Given the description of an element on the screen output the (x, y) to click on. 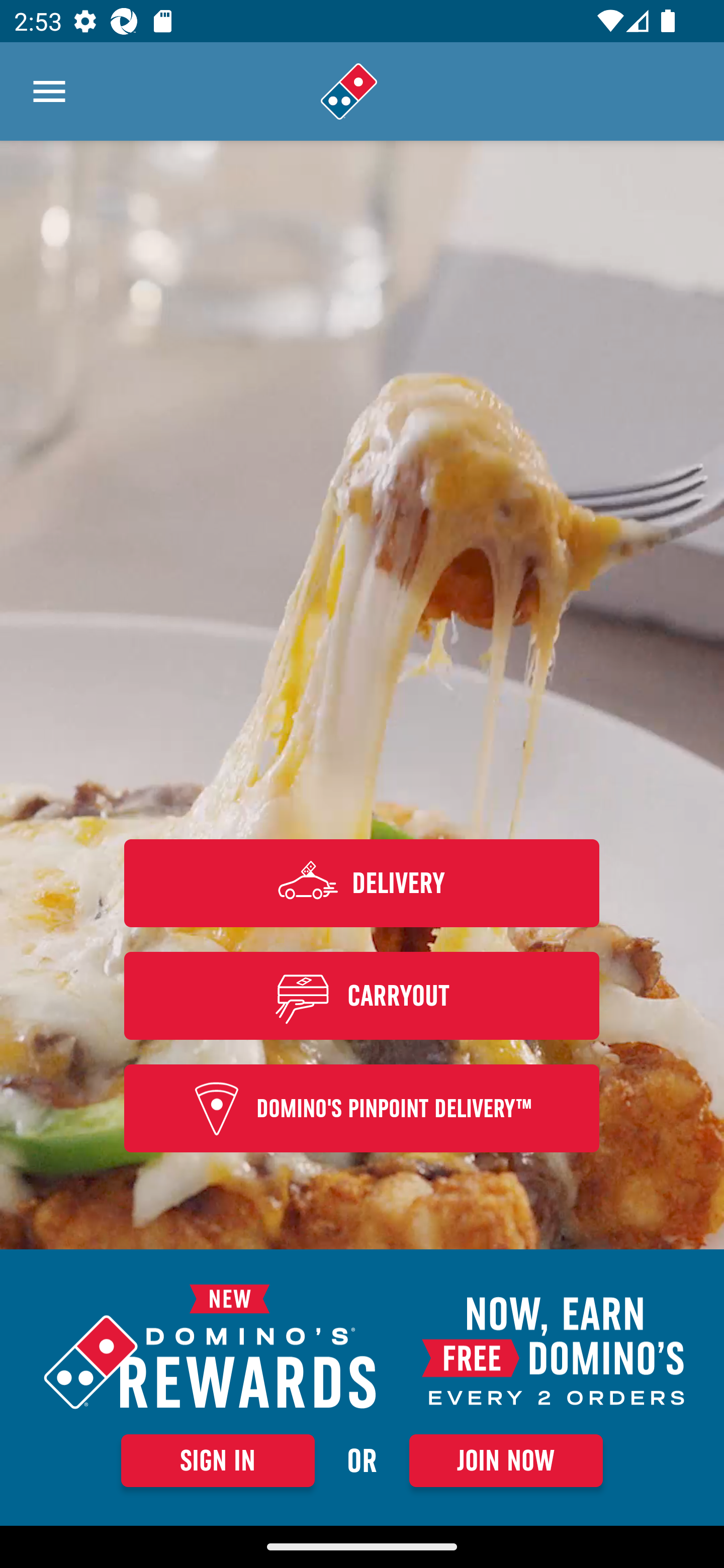
Expand Menu (49, 91)
DELIVERY (361, 882)
CARRYOUT (361, 995)
DOMINO'S PINPOINT DELIVERY™ (361, 1108)
SIGN IN (217, 1460)
JOIN NOW (506, 1460)
